Given the description of an element on the screen output the (x, y) to click on. 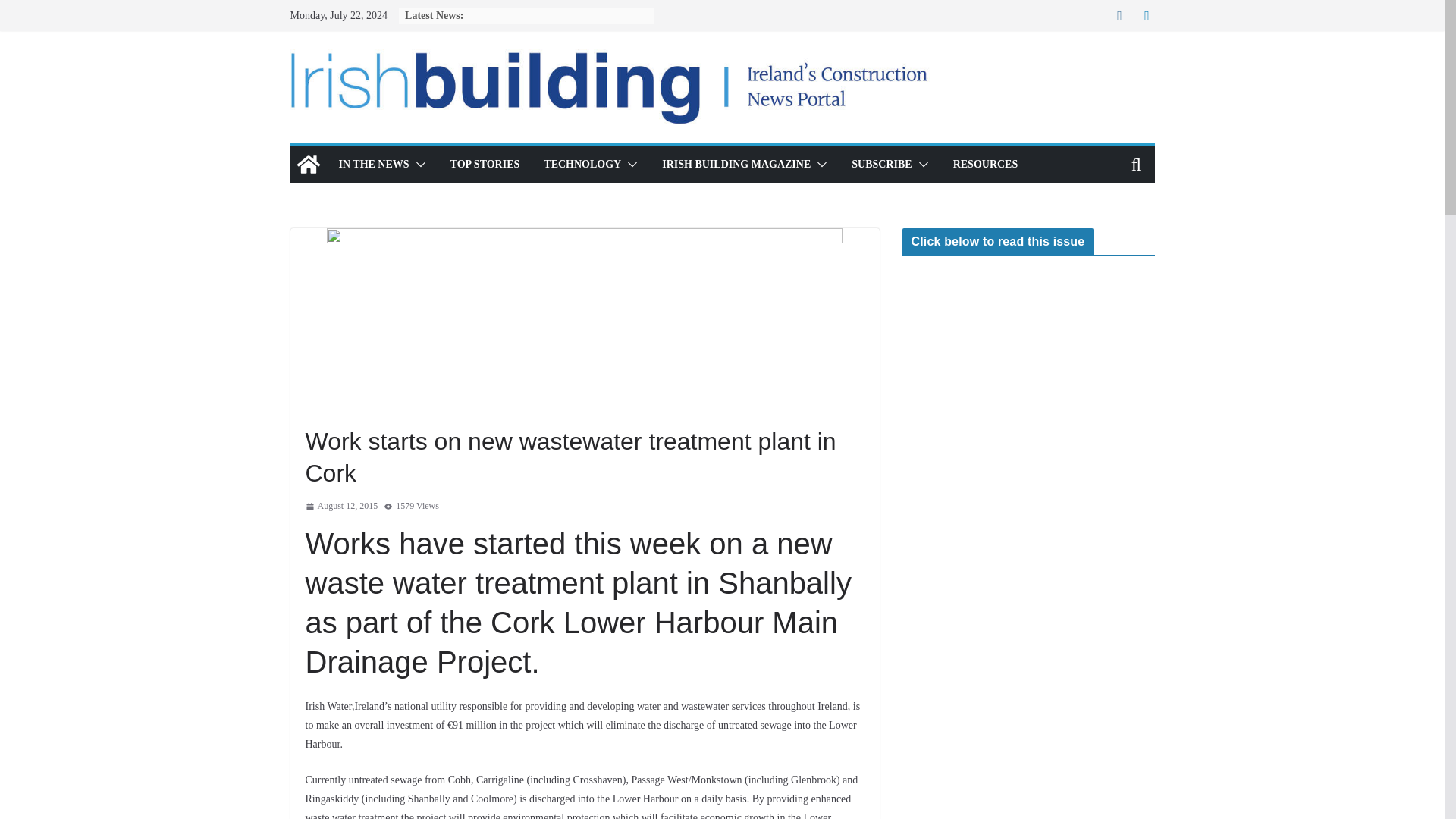
RESOURCES (985, 164)
IRISH BUILDING MAGAZINE (736, 164)
August 12, 2015 (340, 506)
10:44 am (340, 506)
TOP STORIES (484, 164)
Irish building magazine (307, 164)
SUBSCRIBE (881, 164)
IN THE NEWS (373, 164)
TECHNOLOGY (582, 164)
